Given the description of an element on the screen output the (x, y) to click on. 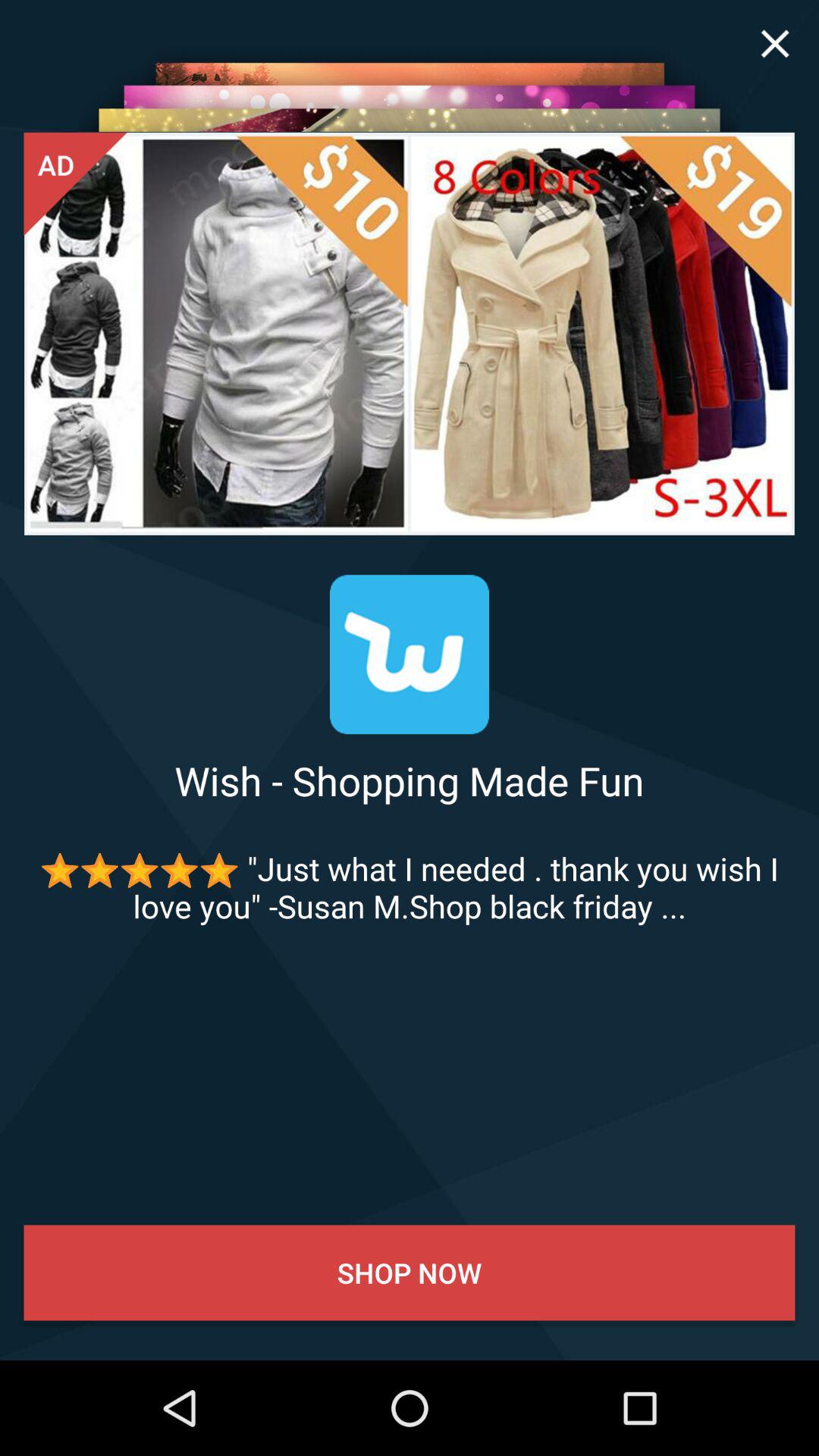
click the icon above the just what i app (409, 780)
